Given the description of an element on the screen output the (x, y) to click on. 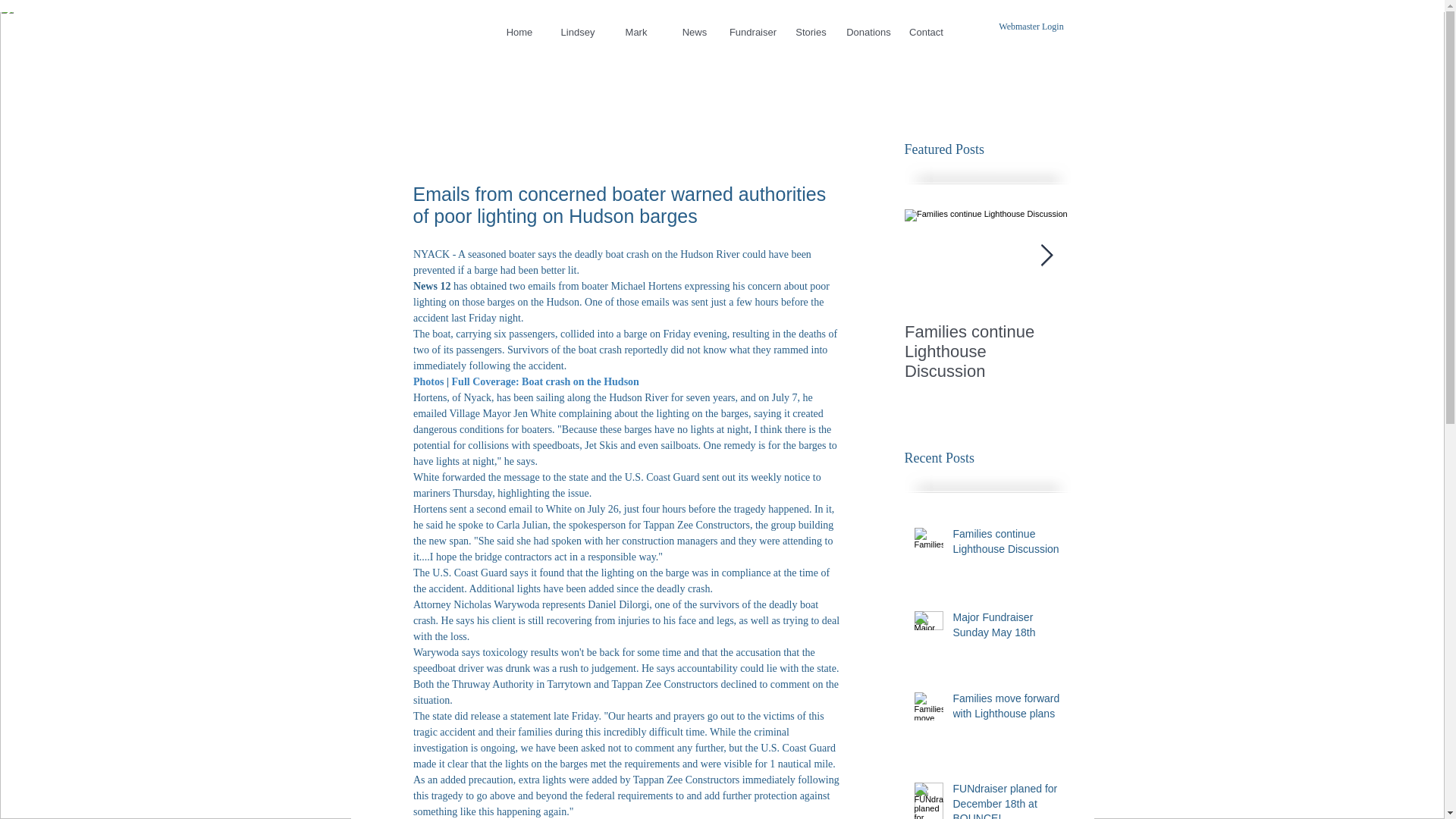
Home (519, 31)
Photos (427, 381)
Lindsey (576, 31)
Mark (636, 31)
Contact (925, 31)
Fundraiser (753, 31)
Donations (868, 31)
Major Fundraiser Sunday May 18th (1006, 628)
FUNdraiser planed for December 18th at BOUNCE! (1006, 800)
News (693, 31)
